Given the description of an element on the screen output the (x, y) to click on. 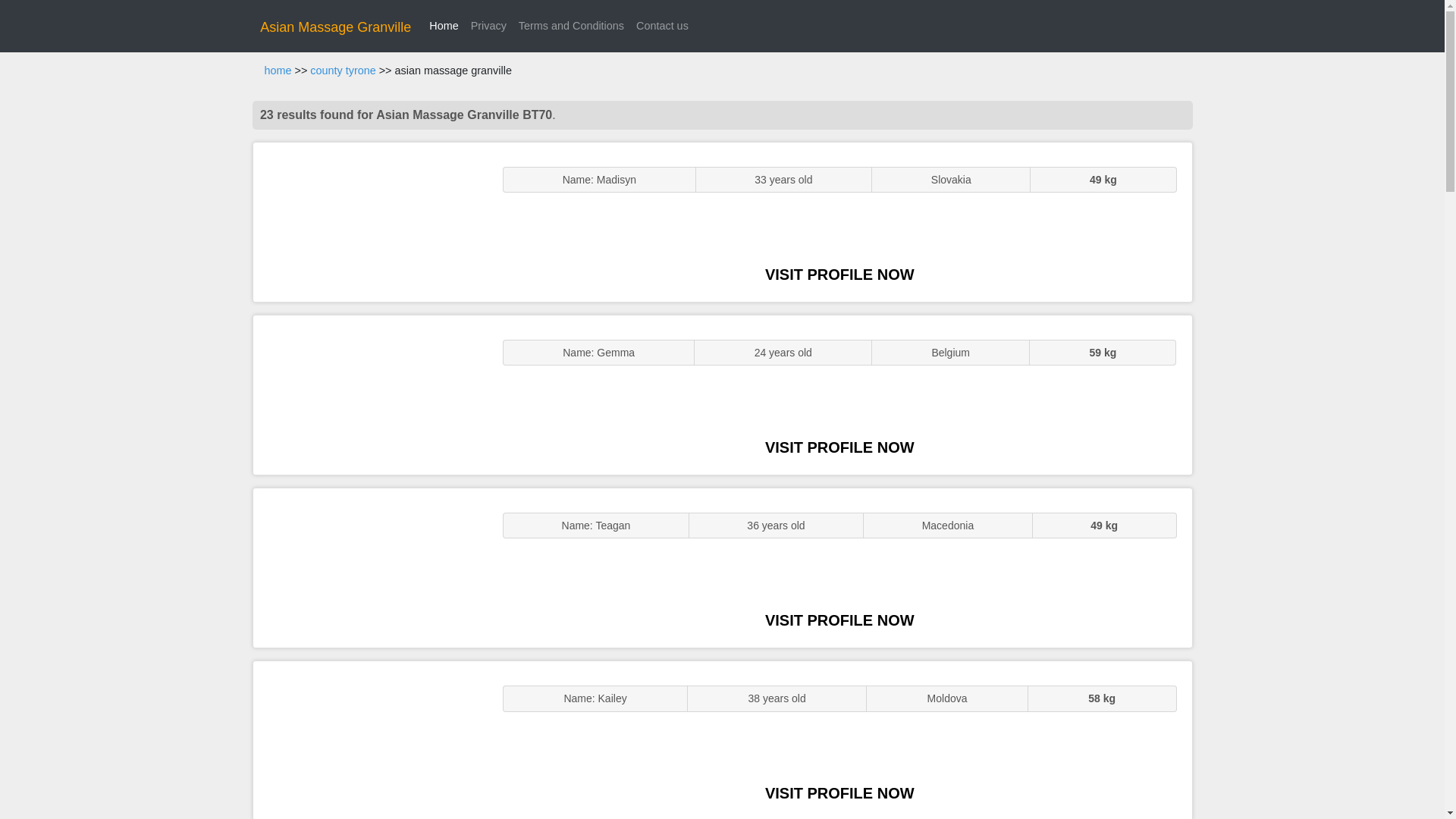
Sluts (370, 739)
VISIT PROFILE NOW (839, 619)
VISIT PROFILE NOW (839, 792)
Sexy (370, 567)
Contact us (662, 25)
Asian Massage Granville (335, 27)
Terms and Conditions (571, 25)
home (277, 70)
VISIT PROFILE NOW (839, 446)
Privacy (488, 25)
county tyrone (342, 70)
GFE (370, 395)
 ENGLISH STUNNER (370, 222)
VISIT PROFILE NOW (839, 274)
